Given the description of an element on the screen output the (x, y) to click on. 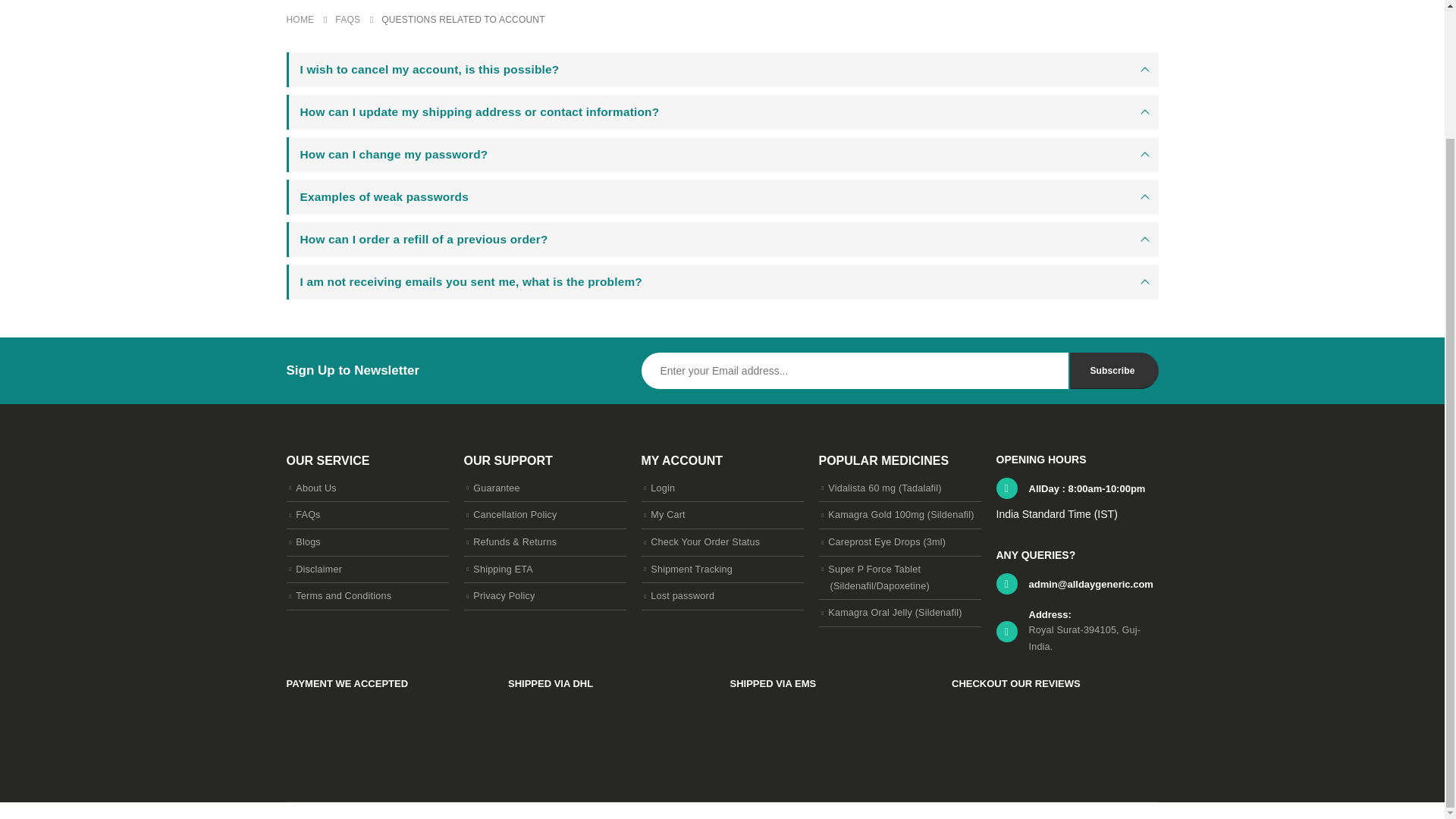
DHL (564, 717)
Trustpilot (1008, 717)
Subscribe (1113, 370)
Payment (343, 717)
EMS (786, 717)
Go to Home Page (300, 19)
